Given the description of an element on the screen output the (x, y) to click on. 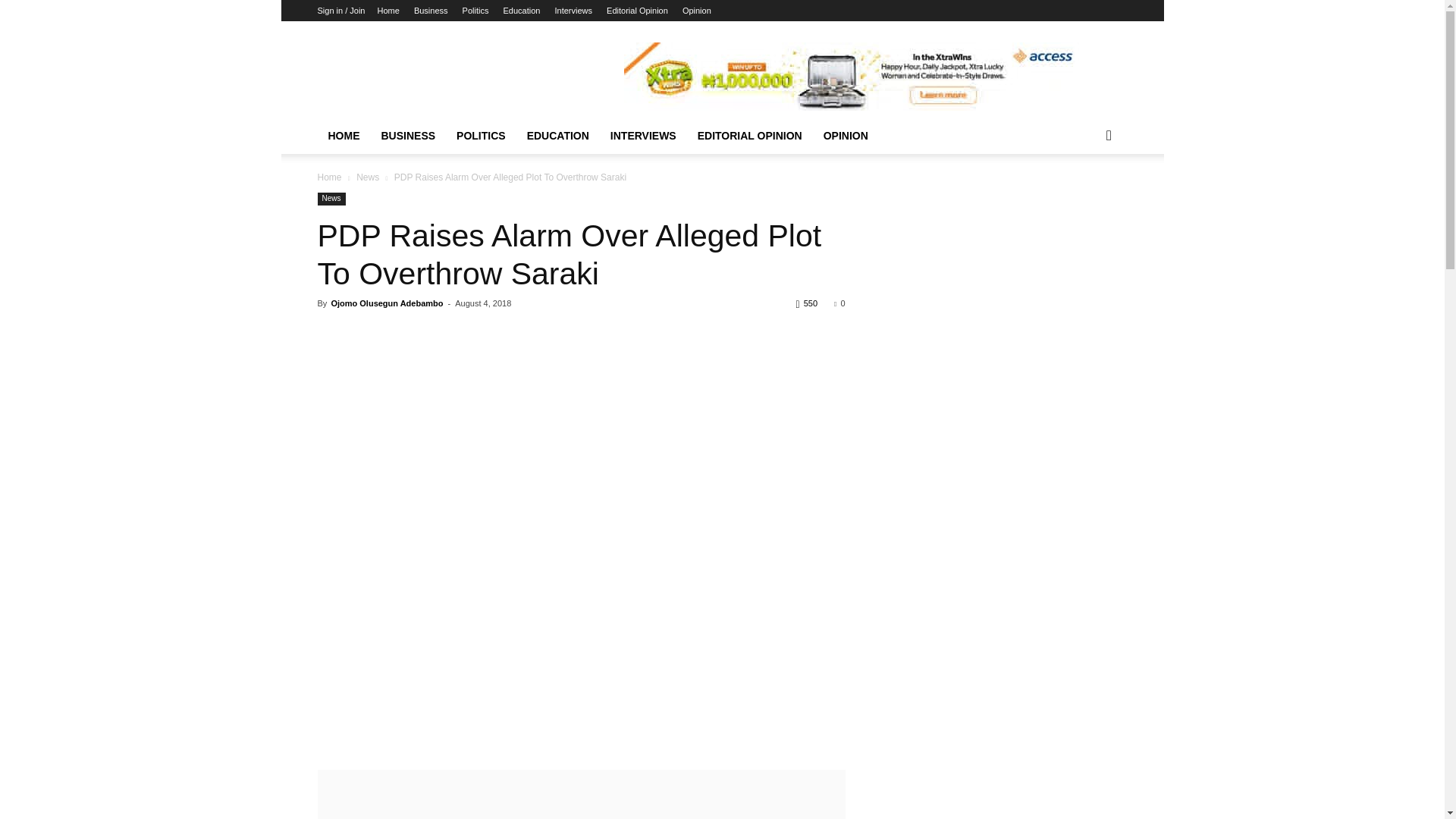
Home (387, 10)
Interviews (573, 10)
POLITICS (480, 135)
OPINION (845, 135)
Editorial Opinion (637, 10)
EDITORIAL OPINION (749, 135)
Education (521, 10)
INTERVIEWS (643, 135)
HOME (343, 135)
Business (430, 10)
